Given the description of an element on the screen output the (x, y) to click on. 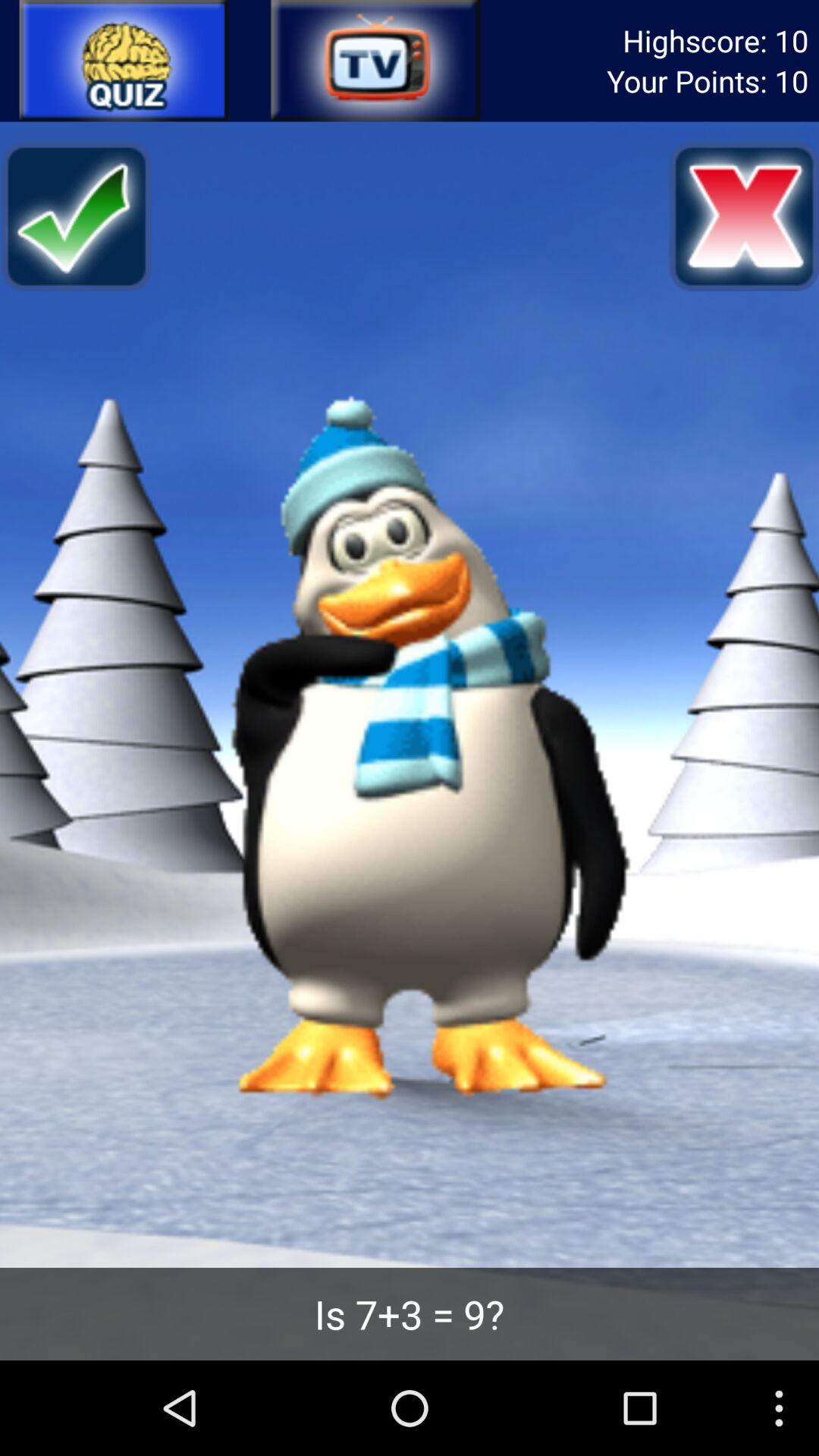
television mode (373, 60)
